Given the description of an element on the screen output the (x, y) to click on. 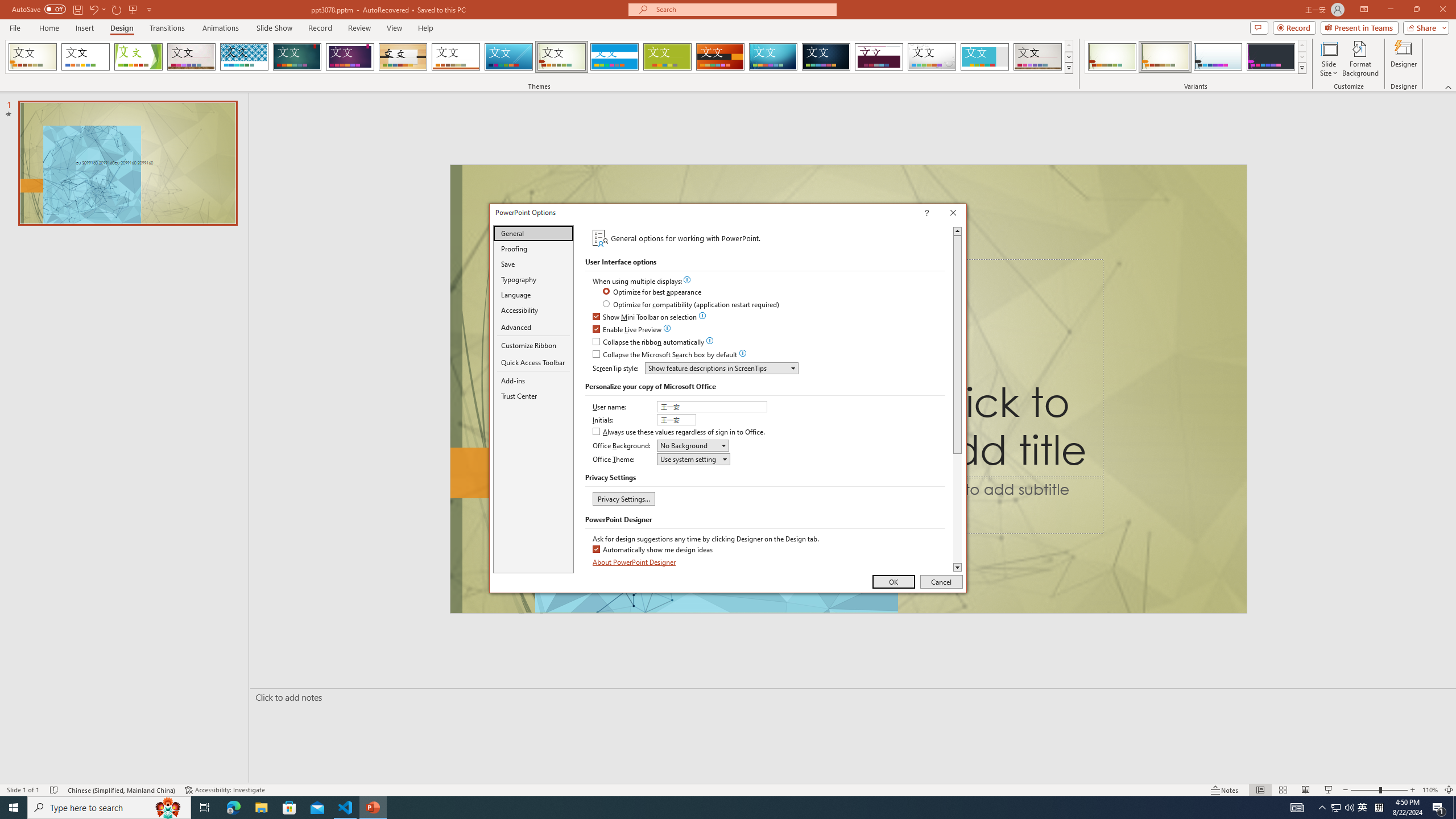
Wisp Variant 2 (1164, 56)
Cancel (941, 581)
